Given the description of an element on the screen output the (x, y) to click on. 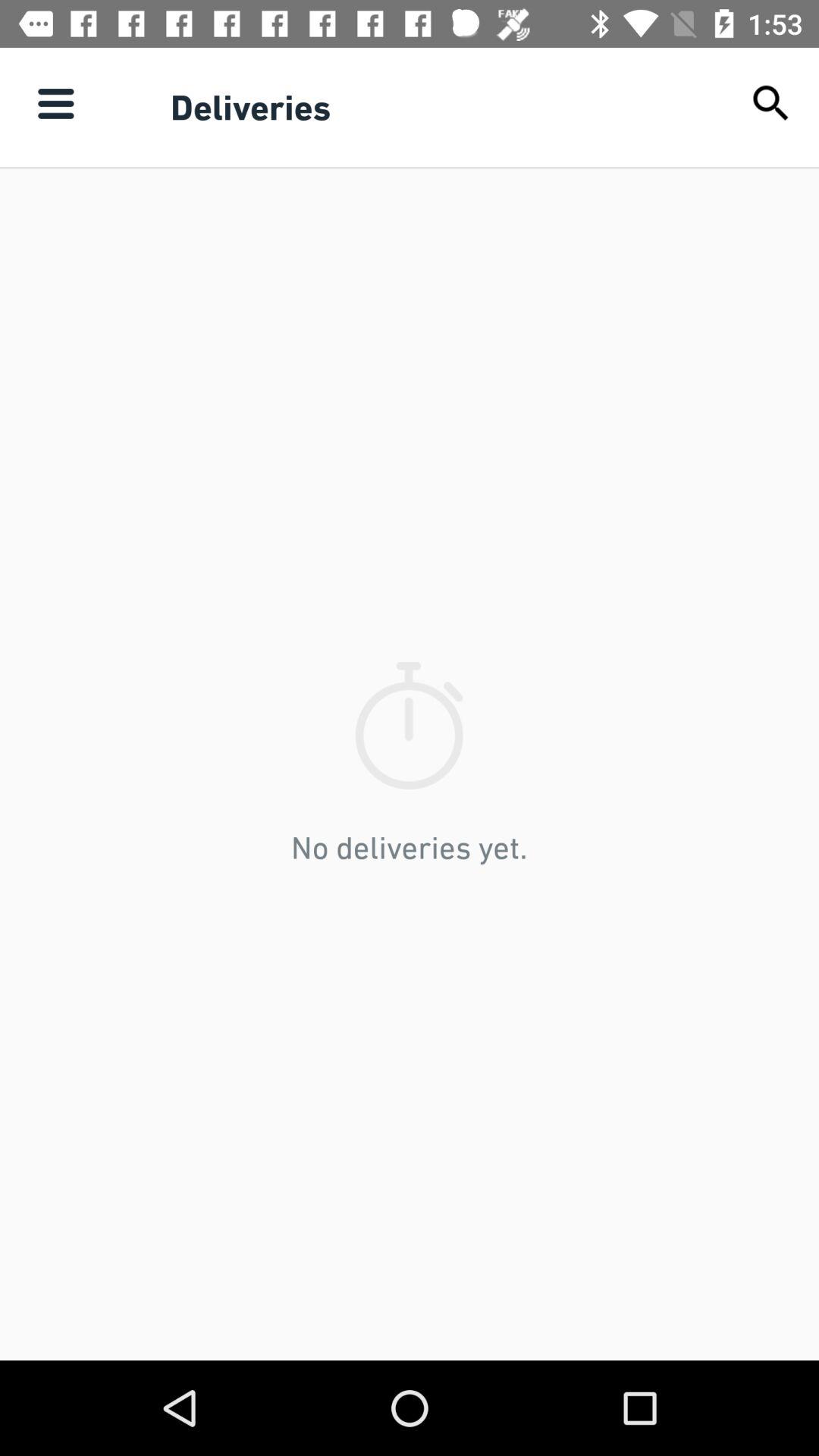
choose the item next to the deliveries icon (771, 103)
